Given the description of an element on the screen output the (x, y) to click on. 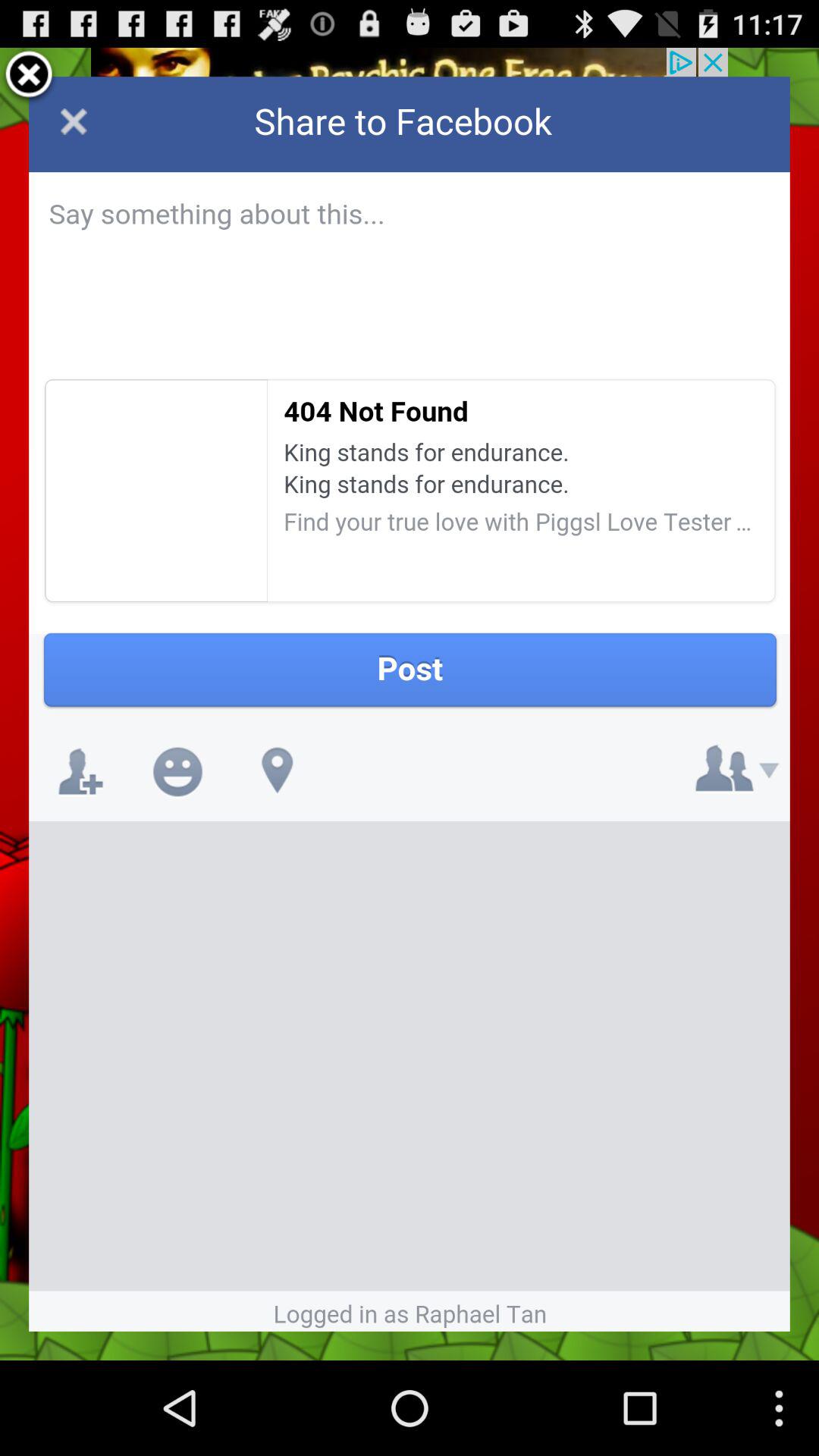
share to facebook (409, 703)
